Given the description of an element on the screen output the (x, y) to click on. 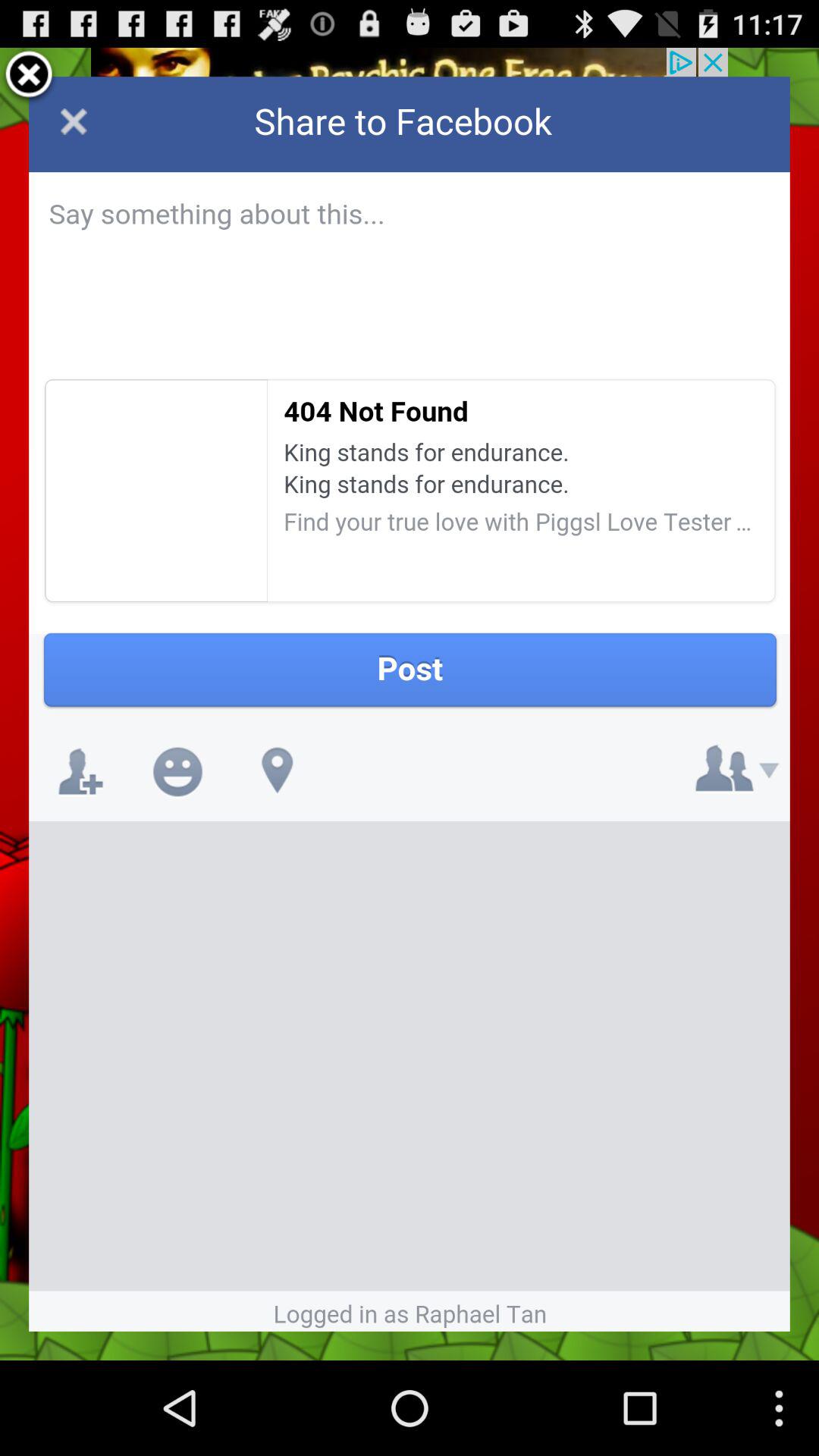
share to facebook (409, 703)
